Given the description of an element on the screen output the (x, y) to click on. 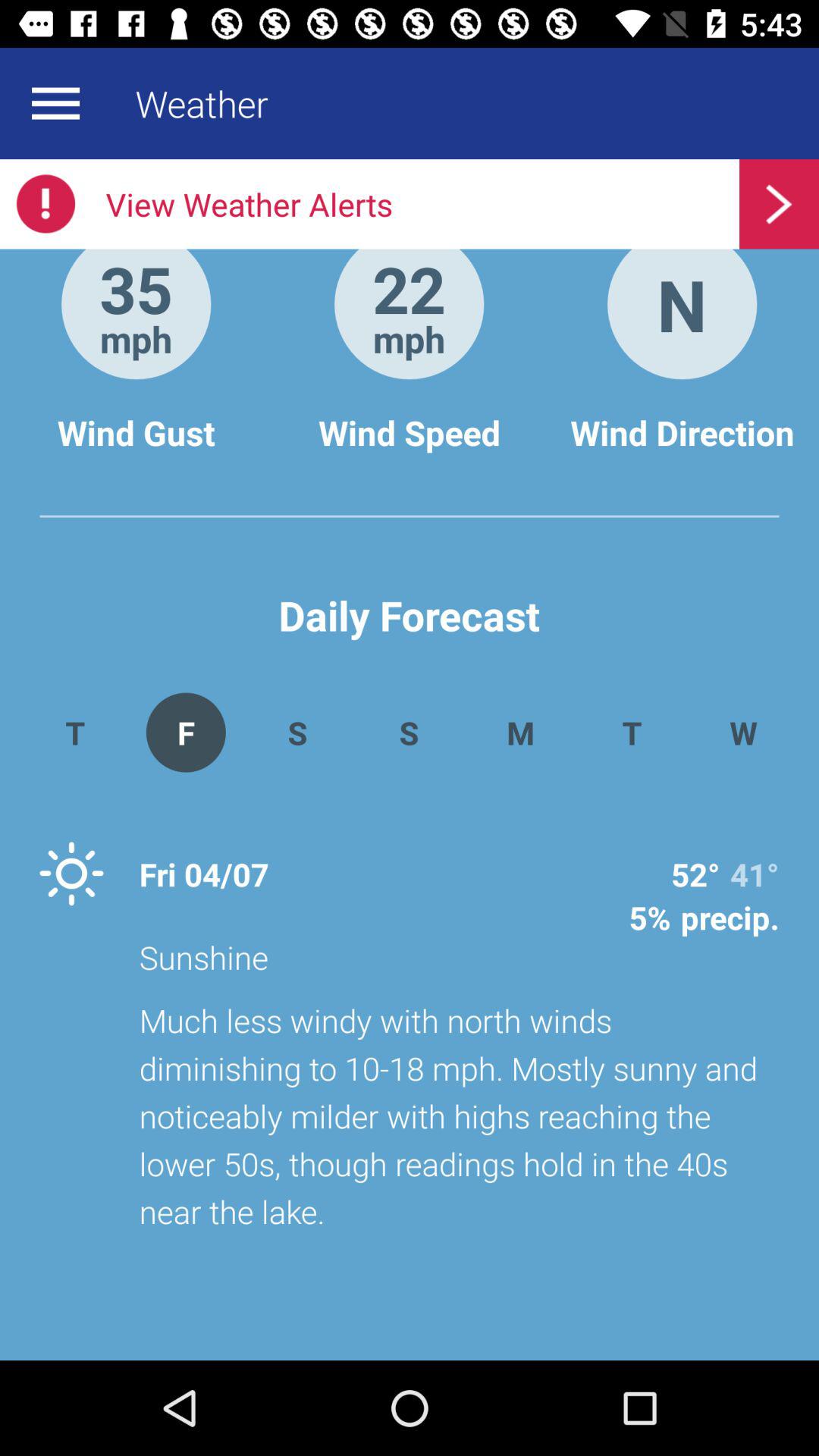
launch the item above 35 app (409, 204)
